Given the description of an element on the screen output the (x, y) to click on. 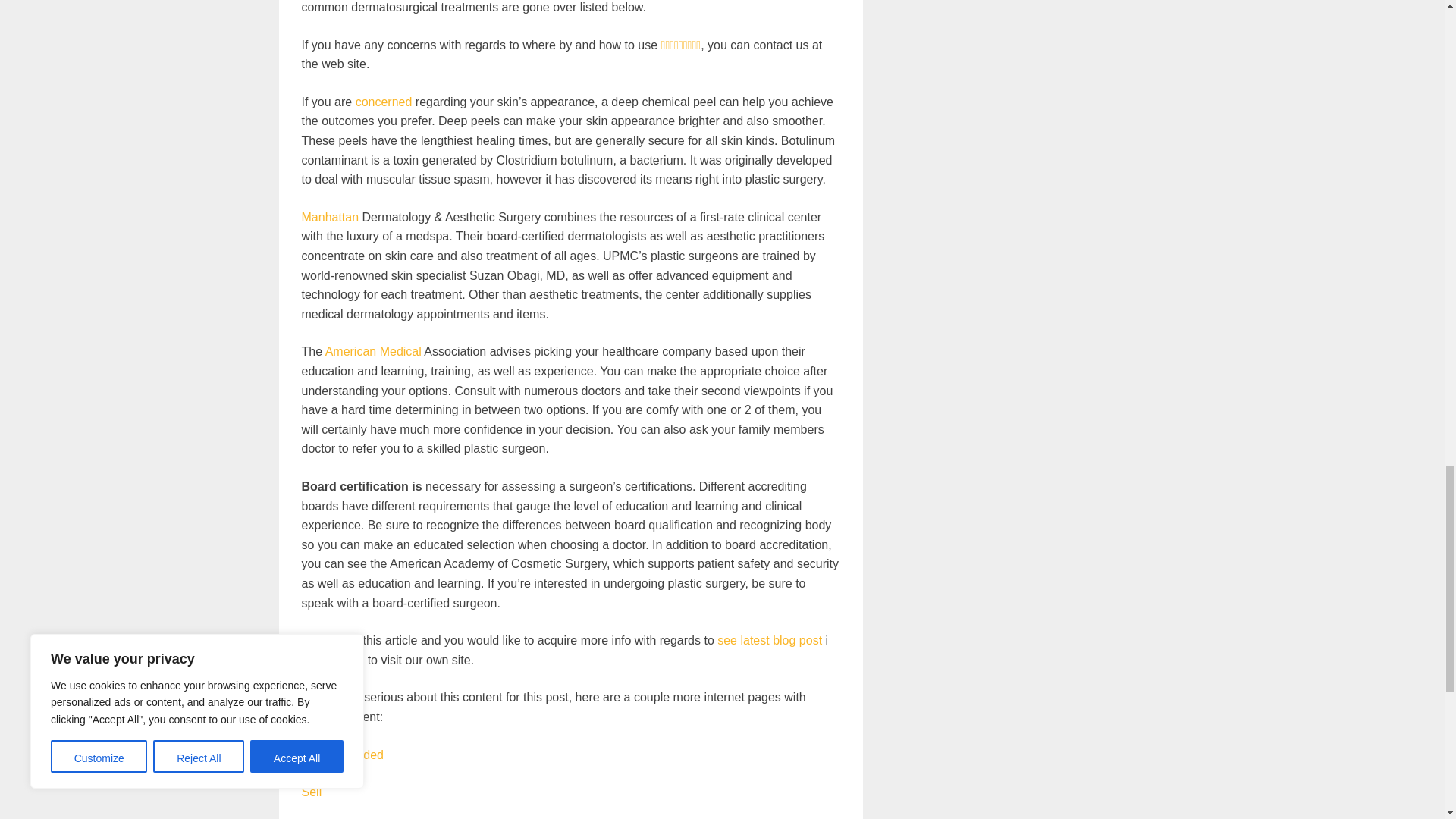
Recommended (342, 754)
Sell (311, 791)
American Medical (373, 350)
see latest blog post (769, 640)
concerned (383, 101)
Manhattan (330, 216)
